Given the description of an element on the screen output the (x, y) to click on. 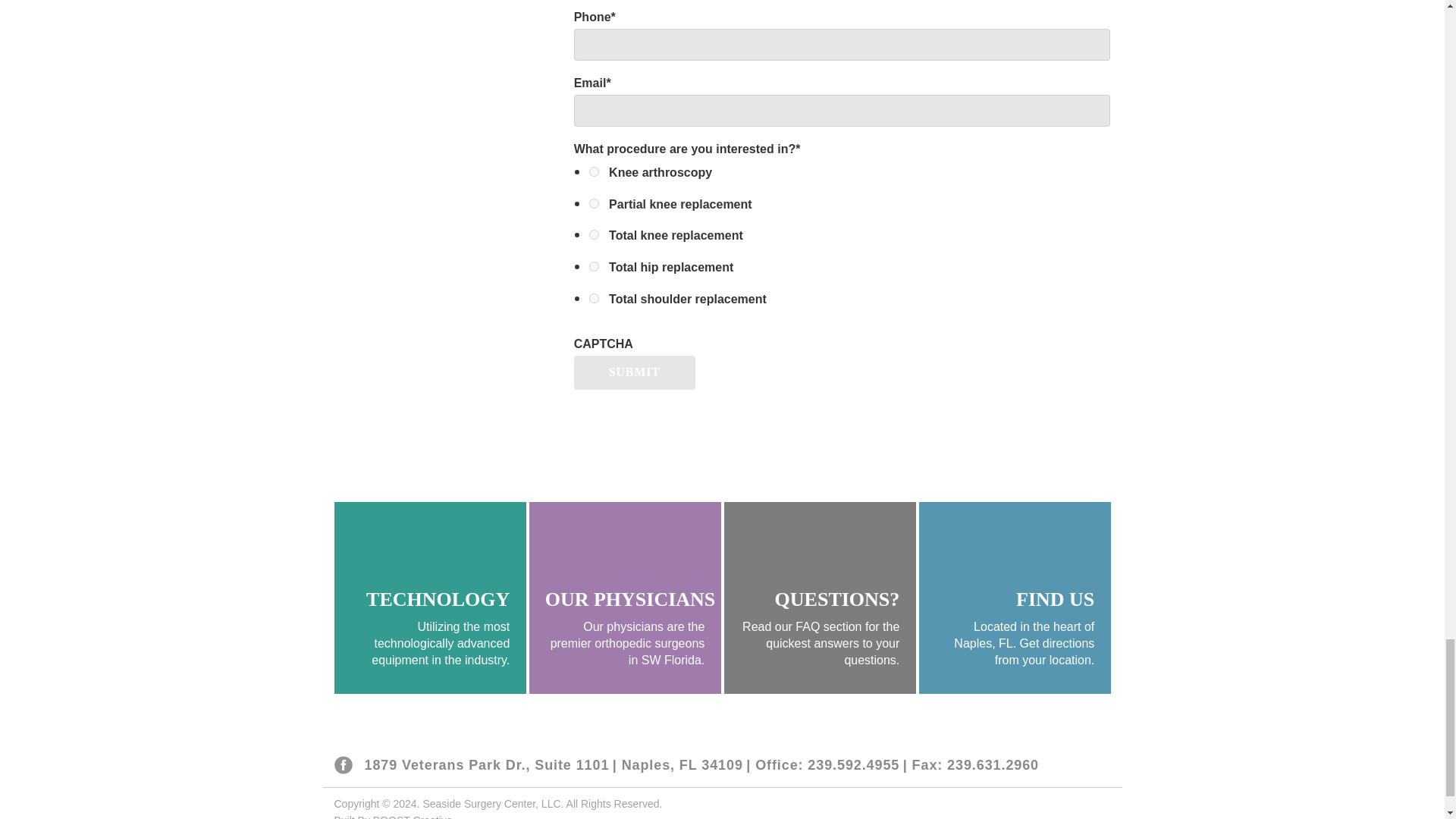
Total knee replacement (593, 234)
Knee arthroscopy (593, 171)
Partial knee replacement (593, 203)
Submit (634, 372)
Total hip replacement (593, 266)
Total shoulder replacement (593, 298)
